Given the description of an element on the screen output the (x, y) to click on. 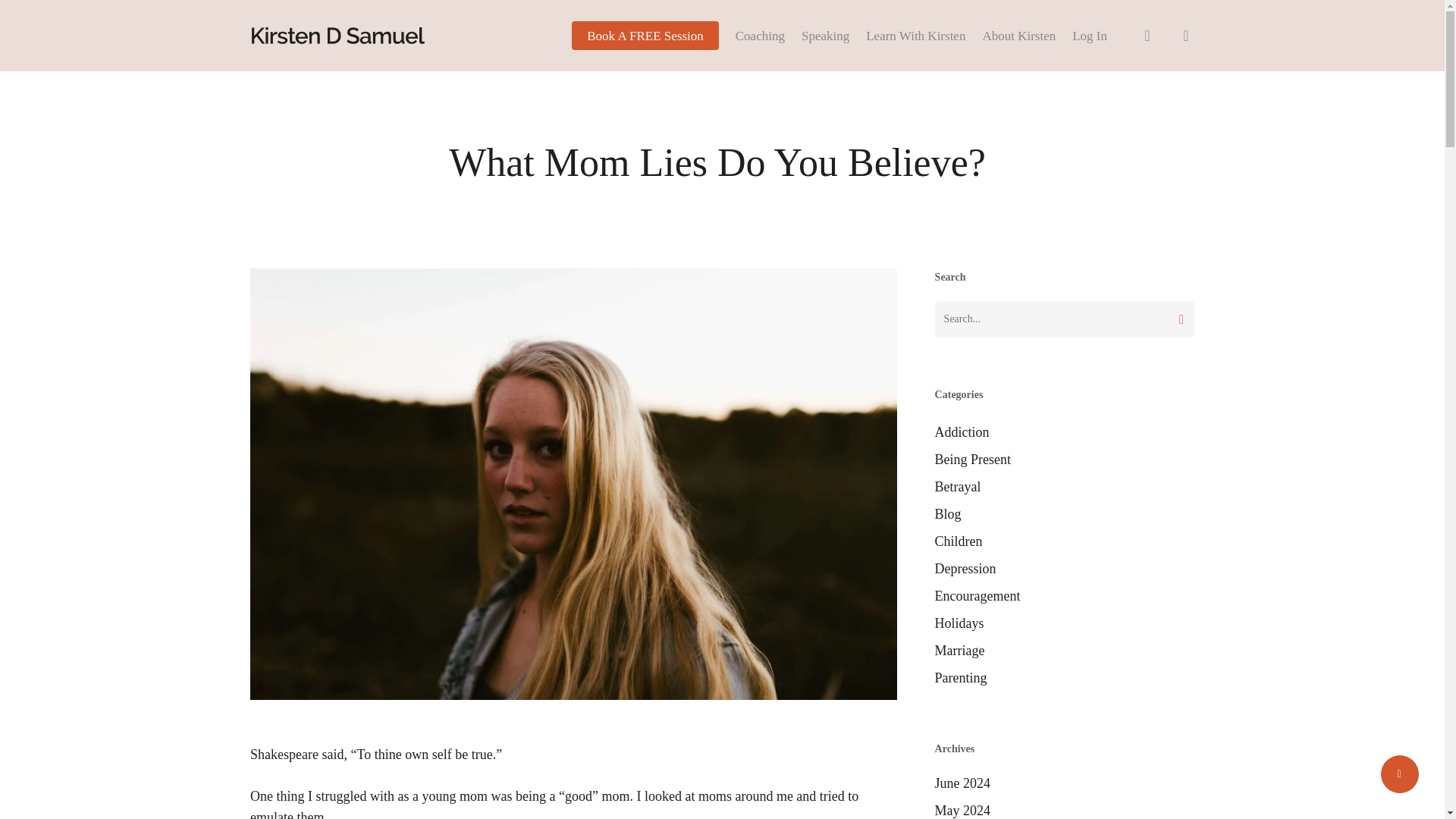
Log In (1088, 34)
Being Present (1063, 459)
Speaking (825, 34)
Coaching (759, 34)
Betrayal (1063, 486)
Addiction (1063, 432)
Learn With Kirsten (915, 34)
search (1147, 35)
Search for: (1063, 319)
About Kirsten (1018, 34)
